Given the description of an element on the screen output the (x, y) to click on. 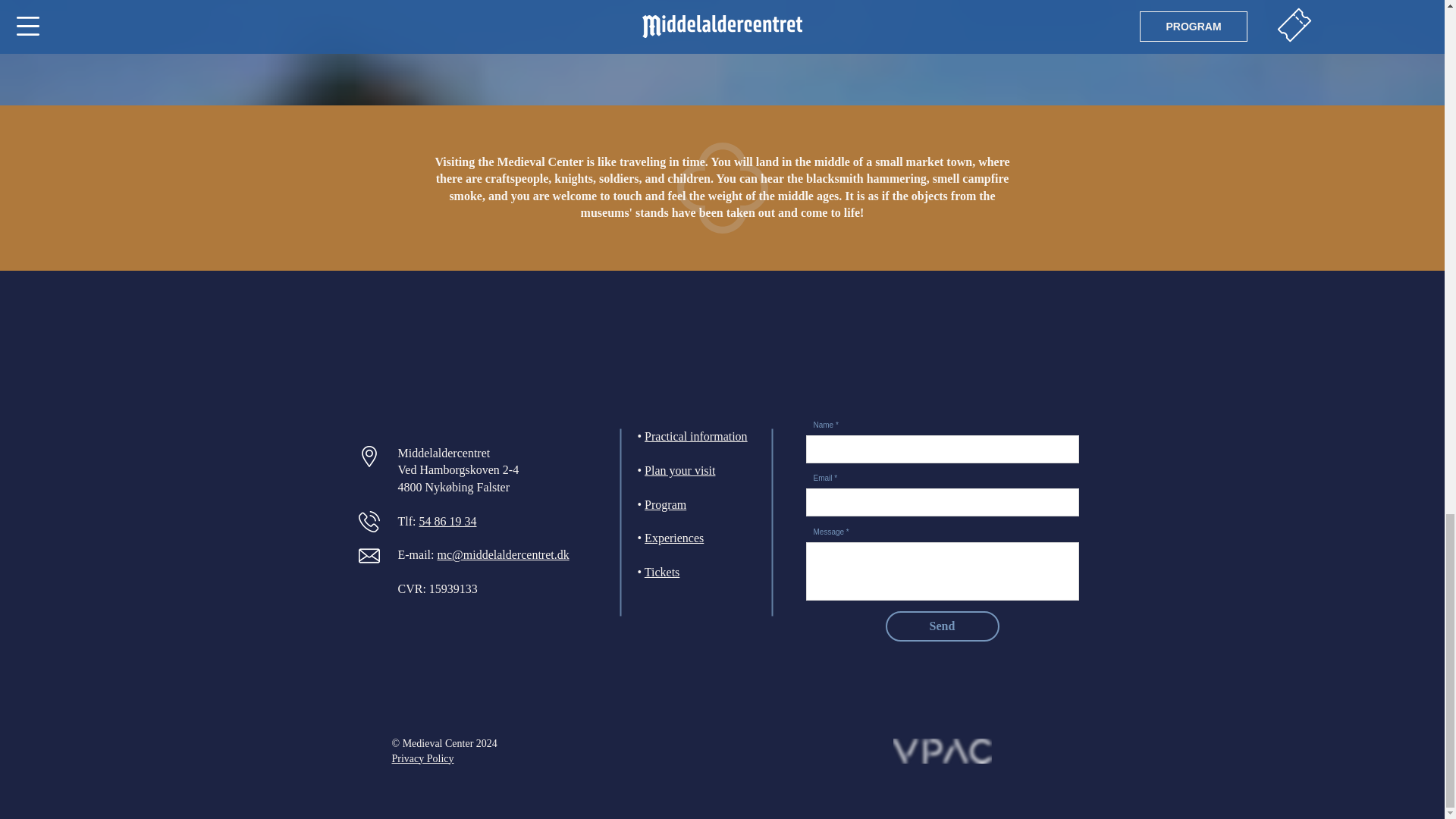
54 86 19 34 (447, 521)
Privacy Policy (421, 758)
Tickets (662, 571)
Send (941, 625)
Plan your visit (679, 470)
Practical information (696, 436)
Experiences (674, 537)
Program (665, 504)
